Given the description of an element on the screen output the (x, y) to click on. 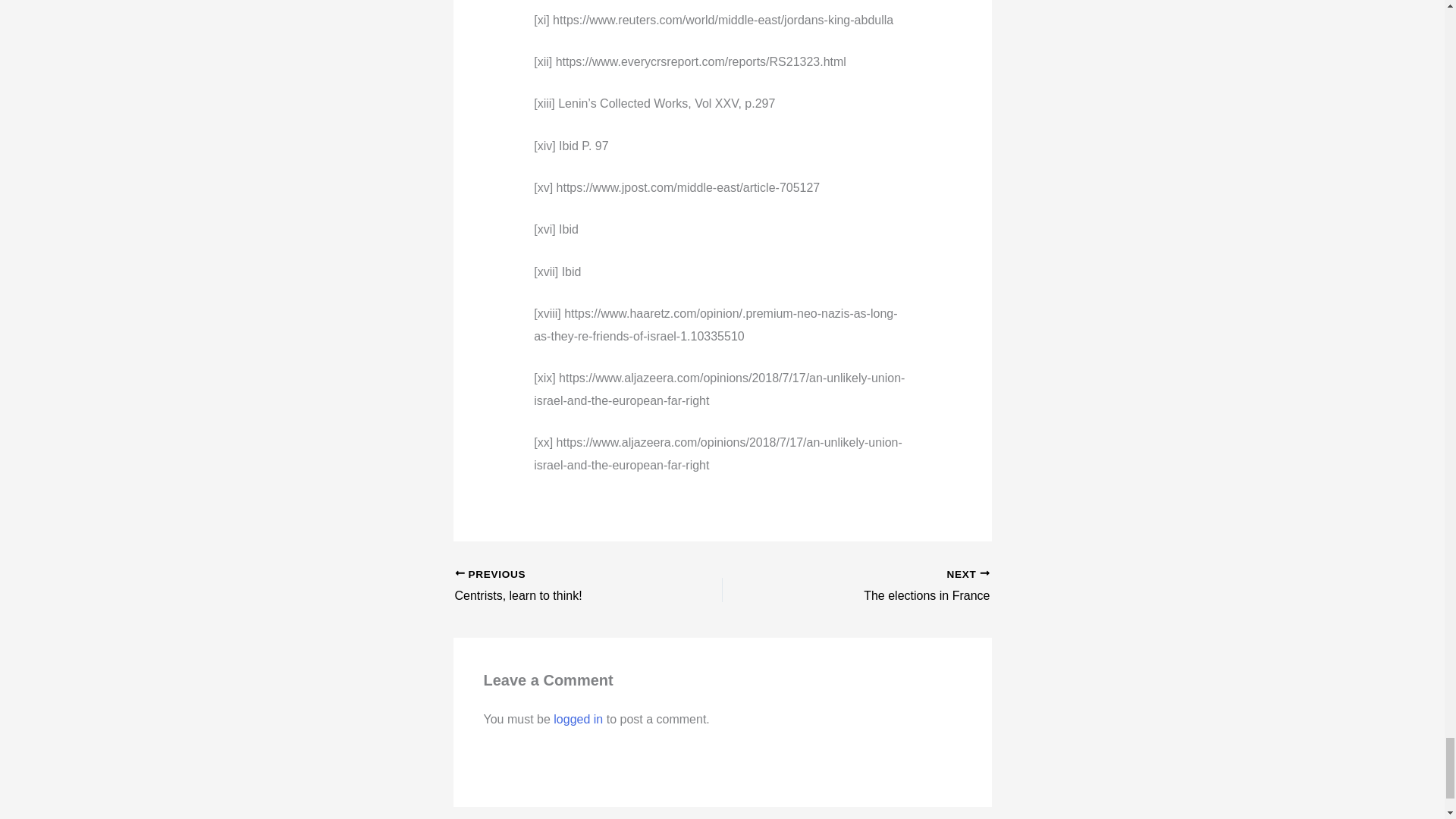
The elections in France (882, 586)
Centrists, learn to think! (561, 586)
logged in (561, 586)
